Given the description of an element on the screen output the (x, y) to click on. 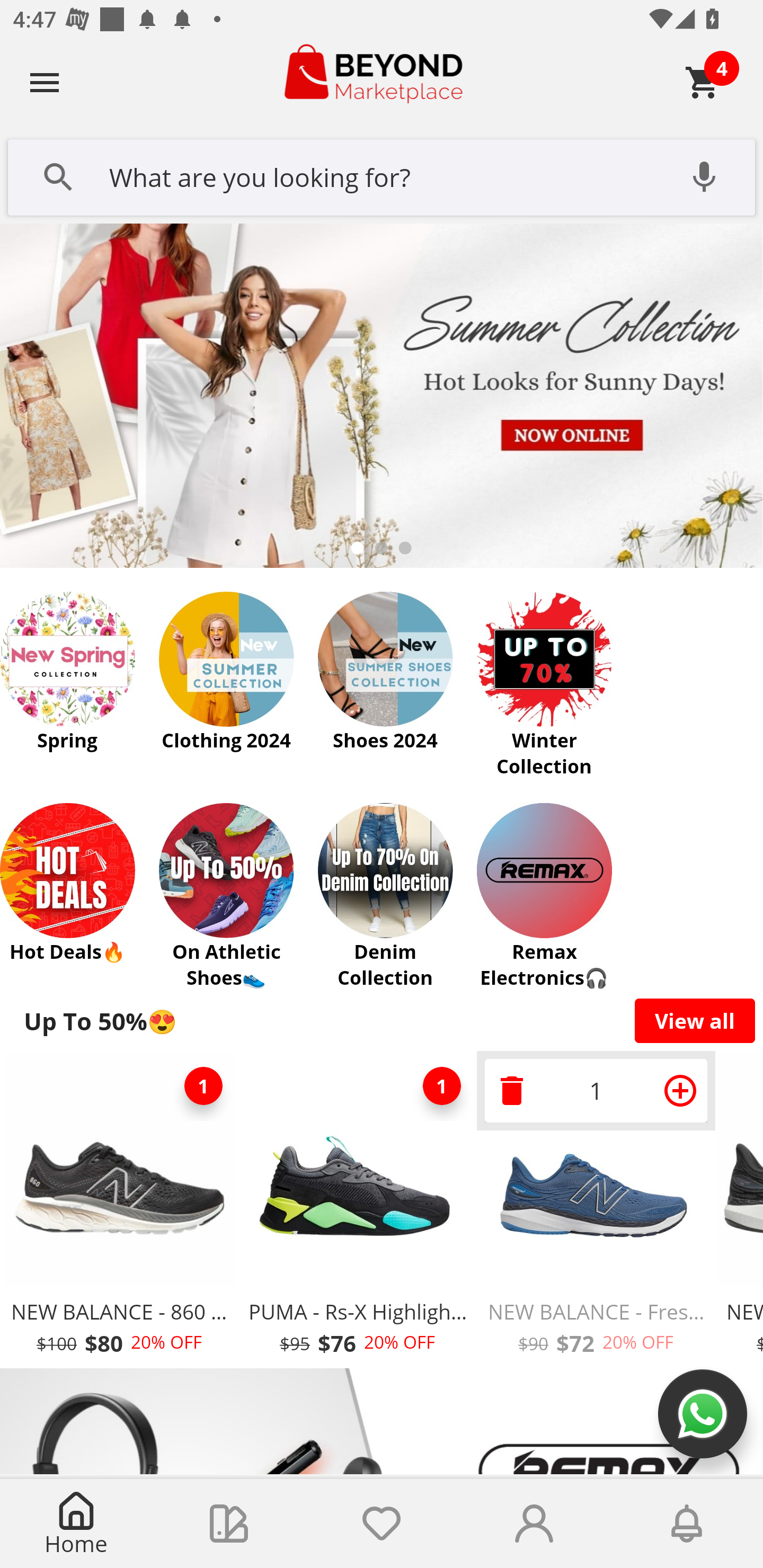
Navigate up (44, 82)
What are you looking for? (381, 175)
View all (694, 1020)
1 NEW BALANCE - 860 Running Shoes $100 $80 20% OFF (119, 1209)
1 (203, 1085)
1 (441, 1085)
1 (595, 1090)
Collections (228, 1523)
Wishlist (381, 1523)
Account (533, 1523)
Notifications (686, 1523)
